Given the description of an element on the screen output the (x, y) to click on. 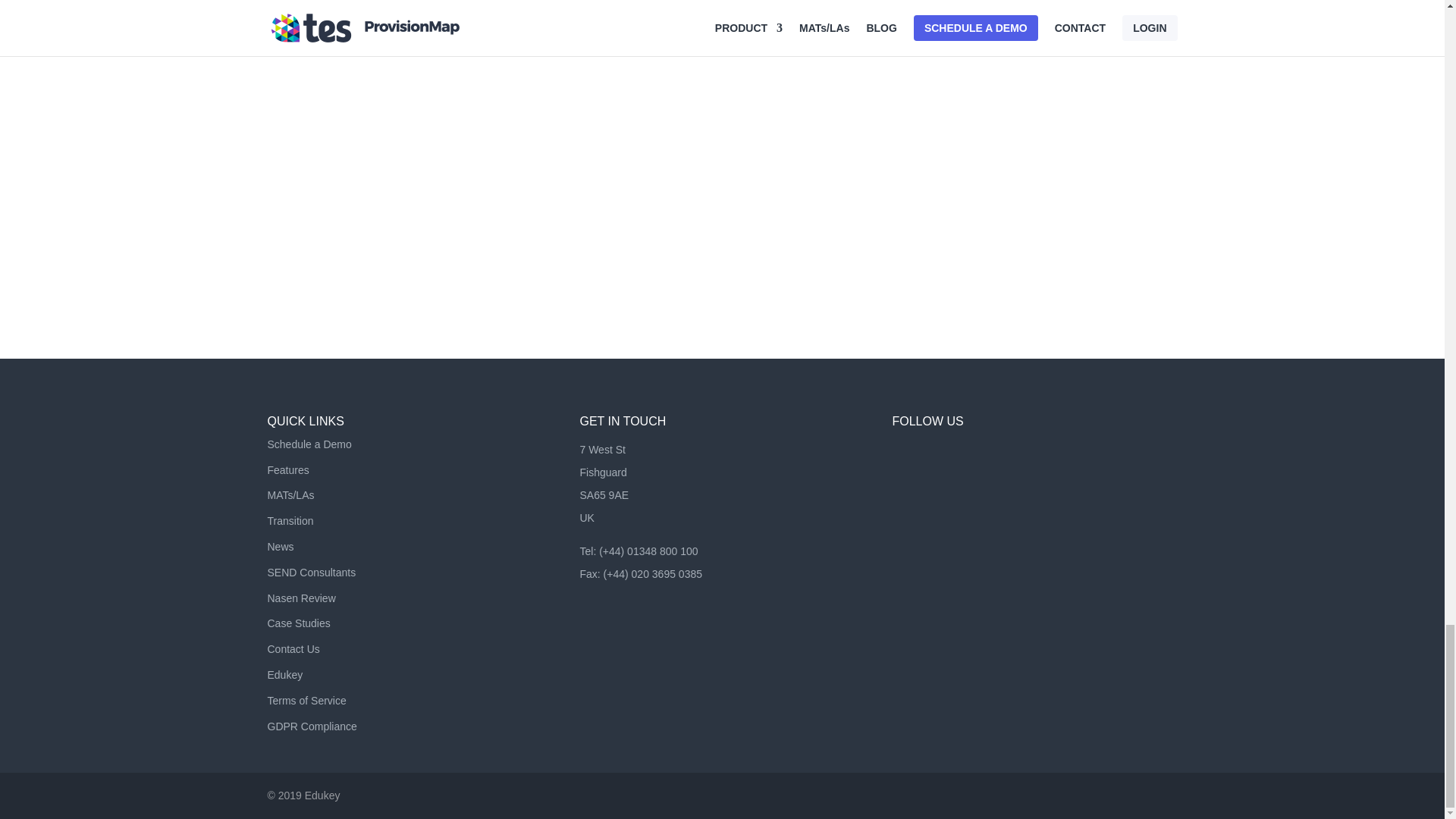
Schedule a Demo (308, 444)
